Given the description of an element on the screen output the (x, y) to click on. 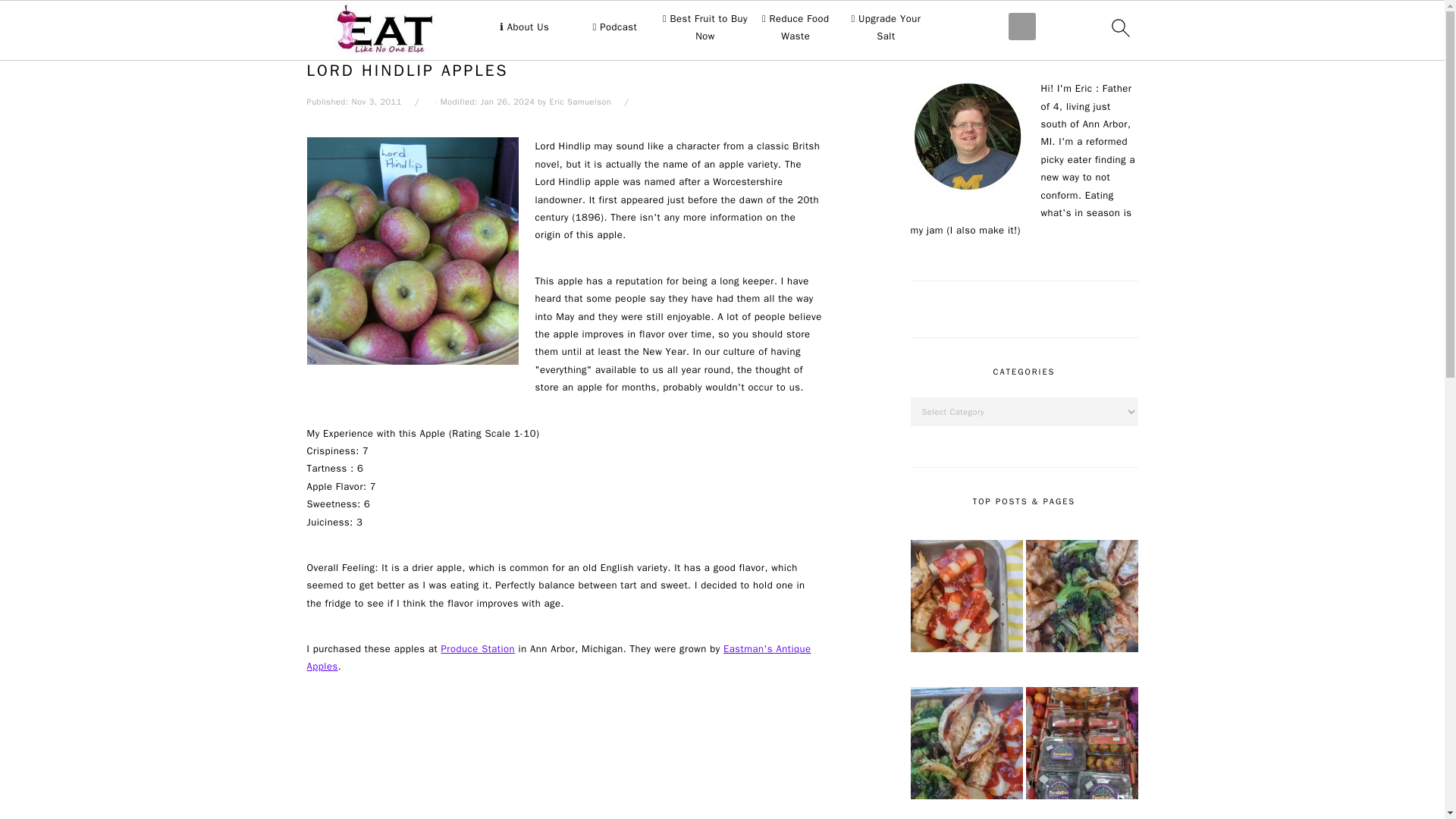
How to Air Fry Stir-Fried Rice Cakes from Trader Joe's (966, 598)
How to Air Fry Trader Joe's Frozen Broccoli (1081, 598)
Lord Hindlip Apples (411, 250)
search icon (1119, 27)
How to Air Fry Trader Joe's Gyoza Potstickers (966, 745)
